Given the description of an element on the screen output the (x, y) to click on. 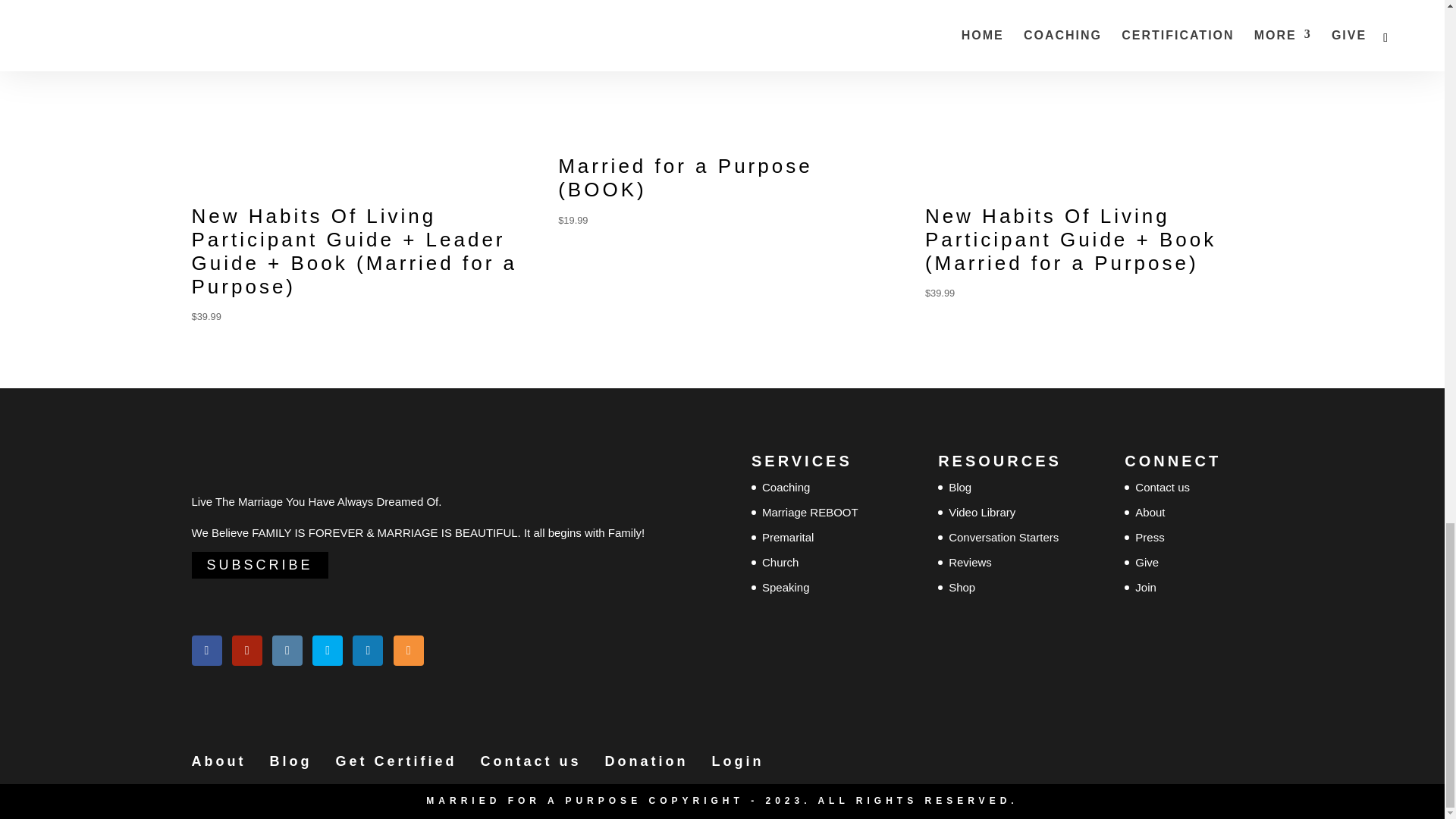
SUBSCRIBE (258, 565)
Coaching (785, 486)
Premarital (787, 536)
Marriage REBOOT (810, 512)
